Given the description of an element on the screen output the (x, y) to click on. 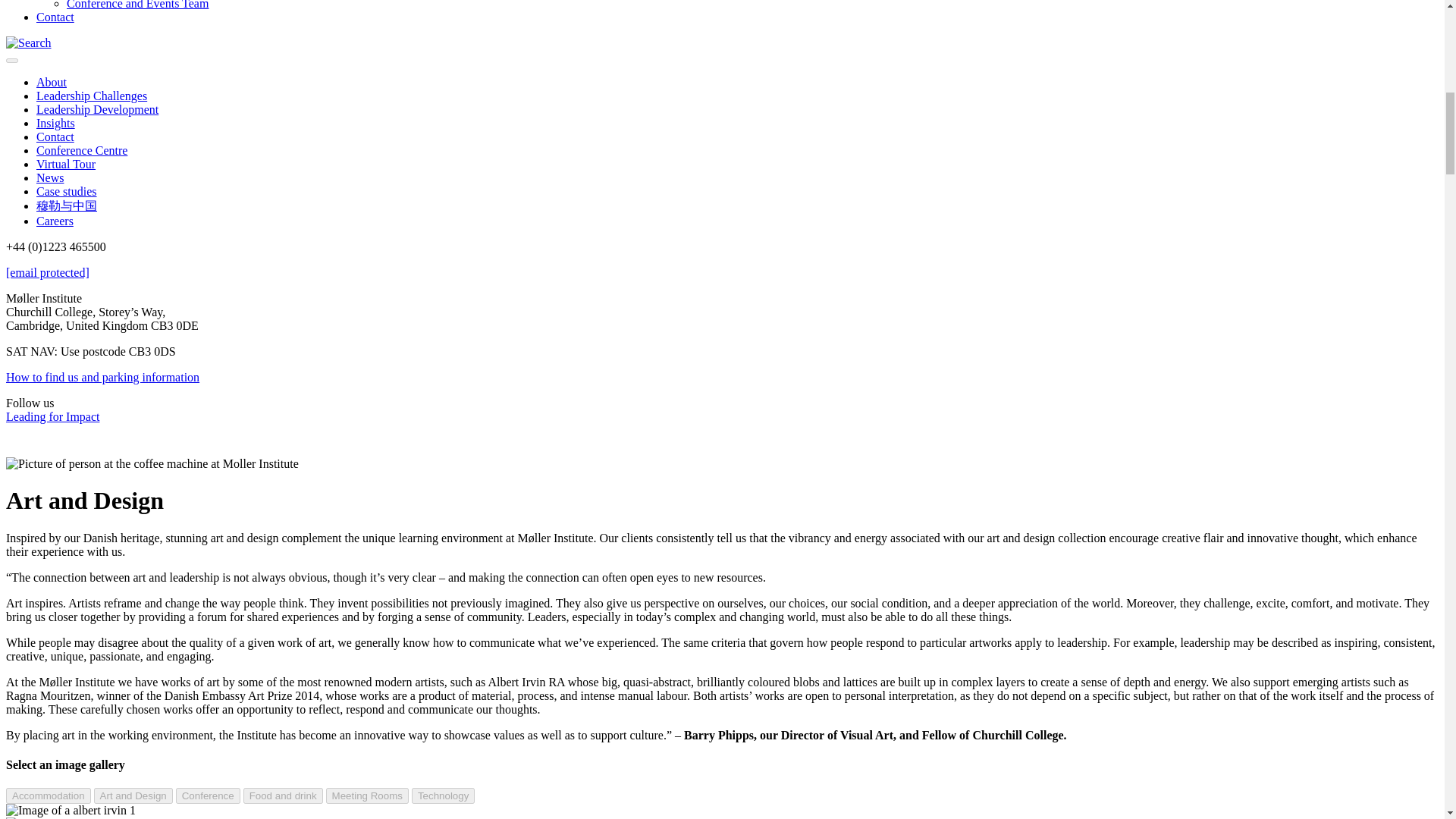
Conference and Events Team (137, 4)
Contact (55, 16)
Person at the coffee machine at Moller Institute (151, 463)
About (51, 82)
